Given the description of an element on the screen output the (x, y) to click on. 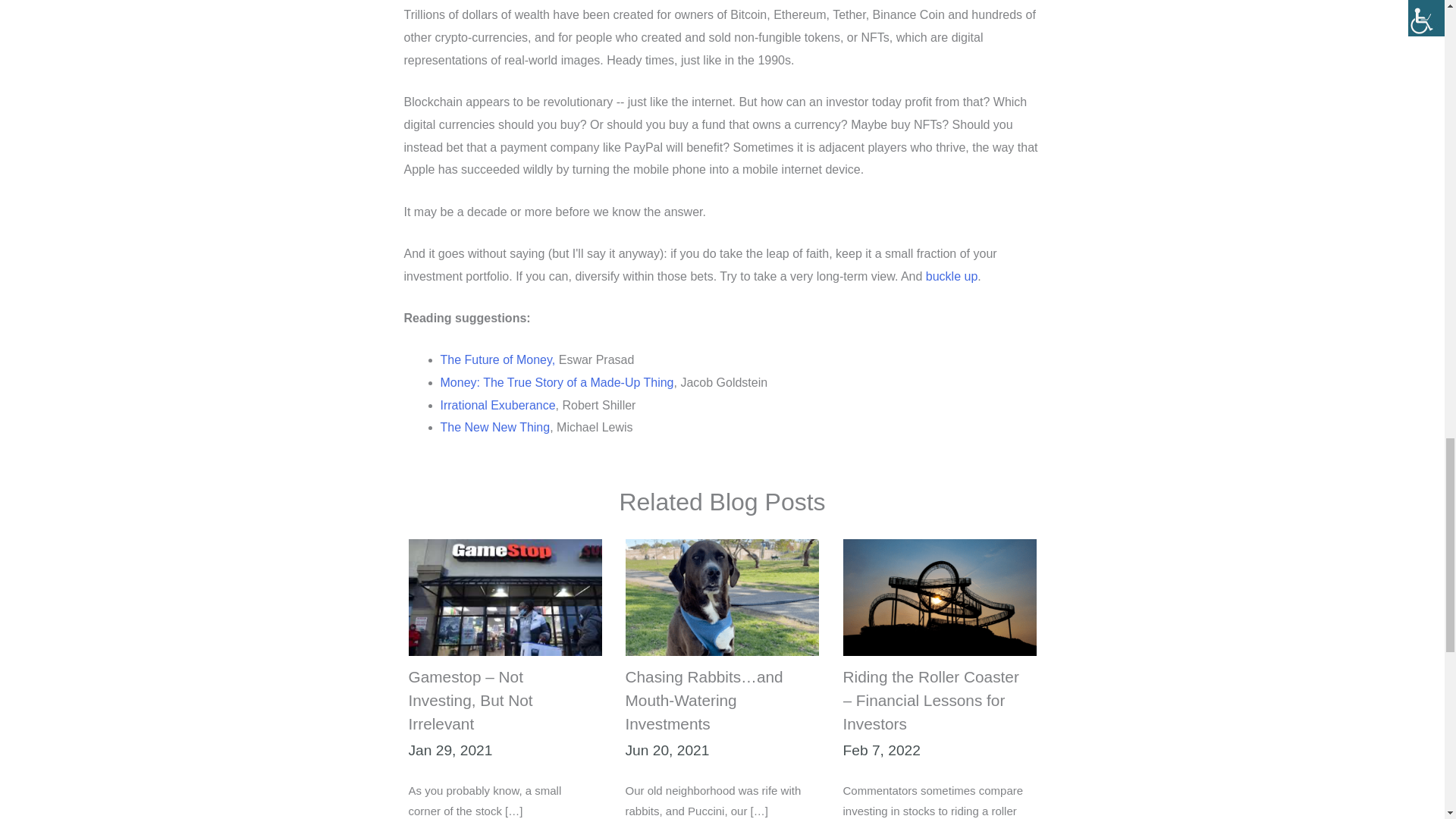
The Future of Money, (496, 359)
Money: The True Story of a Made-Up Thing (555, 382)
buckle up (952, 276)
The New New Thing (494, 427)
Irrational Exuberance (496, 404)
